Given the description of an element on the screen output the (x, y) to click on. 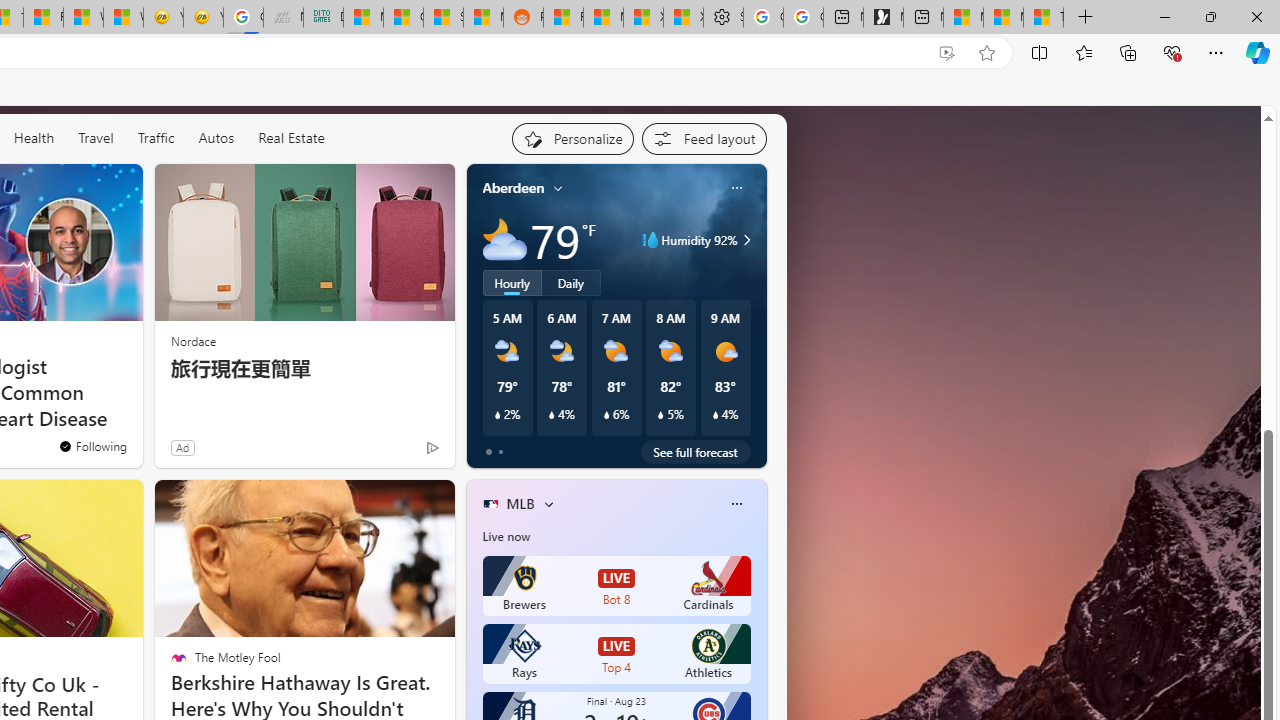
Class: weather-current-precipitation-glyph (715, 415)
MLB (520, 503)
Autos (215, 137)
Travel (95, 138)
Hourly (511, 282)
Traffic (155, 138)
Navy Quest (283, 17)
Class: weather-arrow-glyph (746, 240)
